Given the description of an element on the screen output the (x, y) to click on. 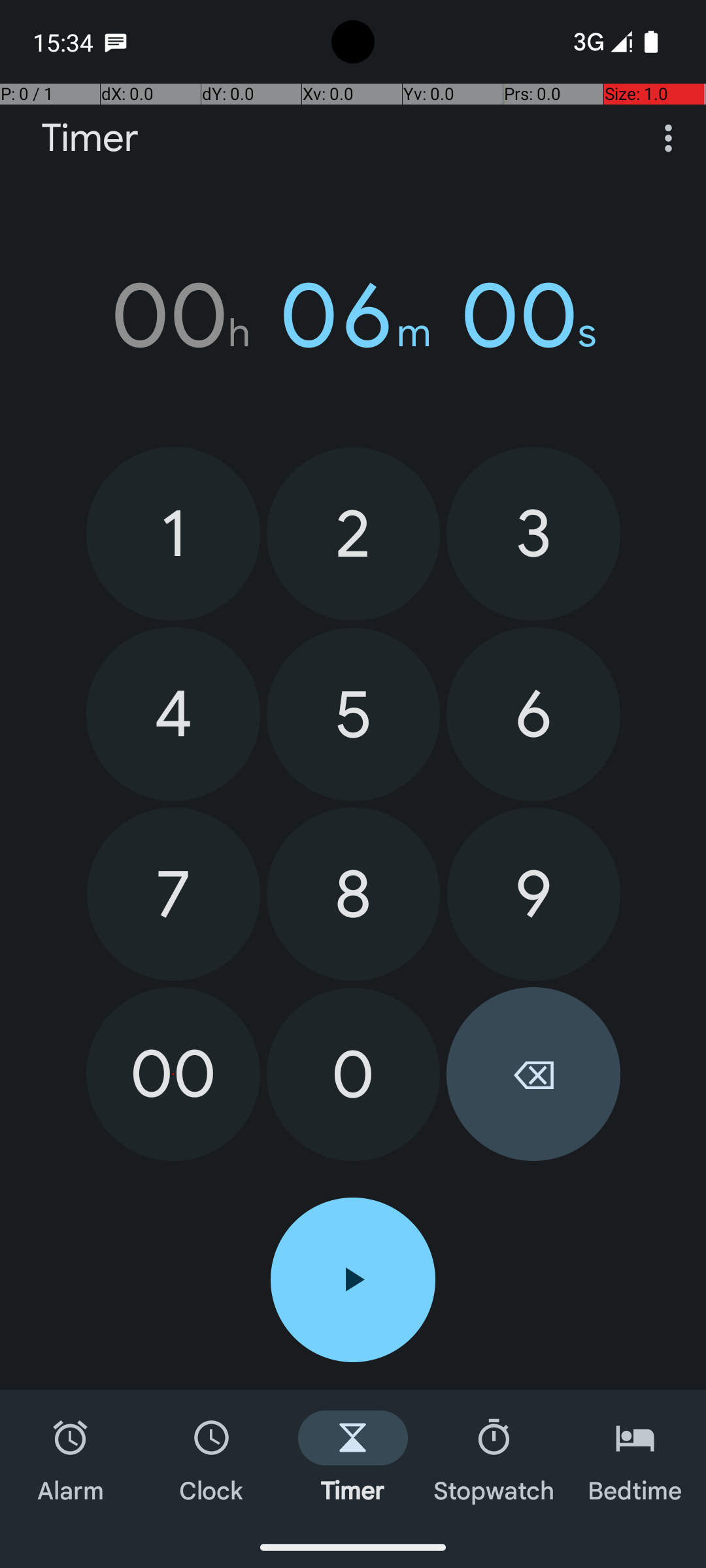
00h 06m 00s Element type: android.widget.TextView (353, 315)
